Given the description of an element on the screen output the (x, y) to click on. 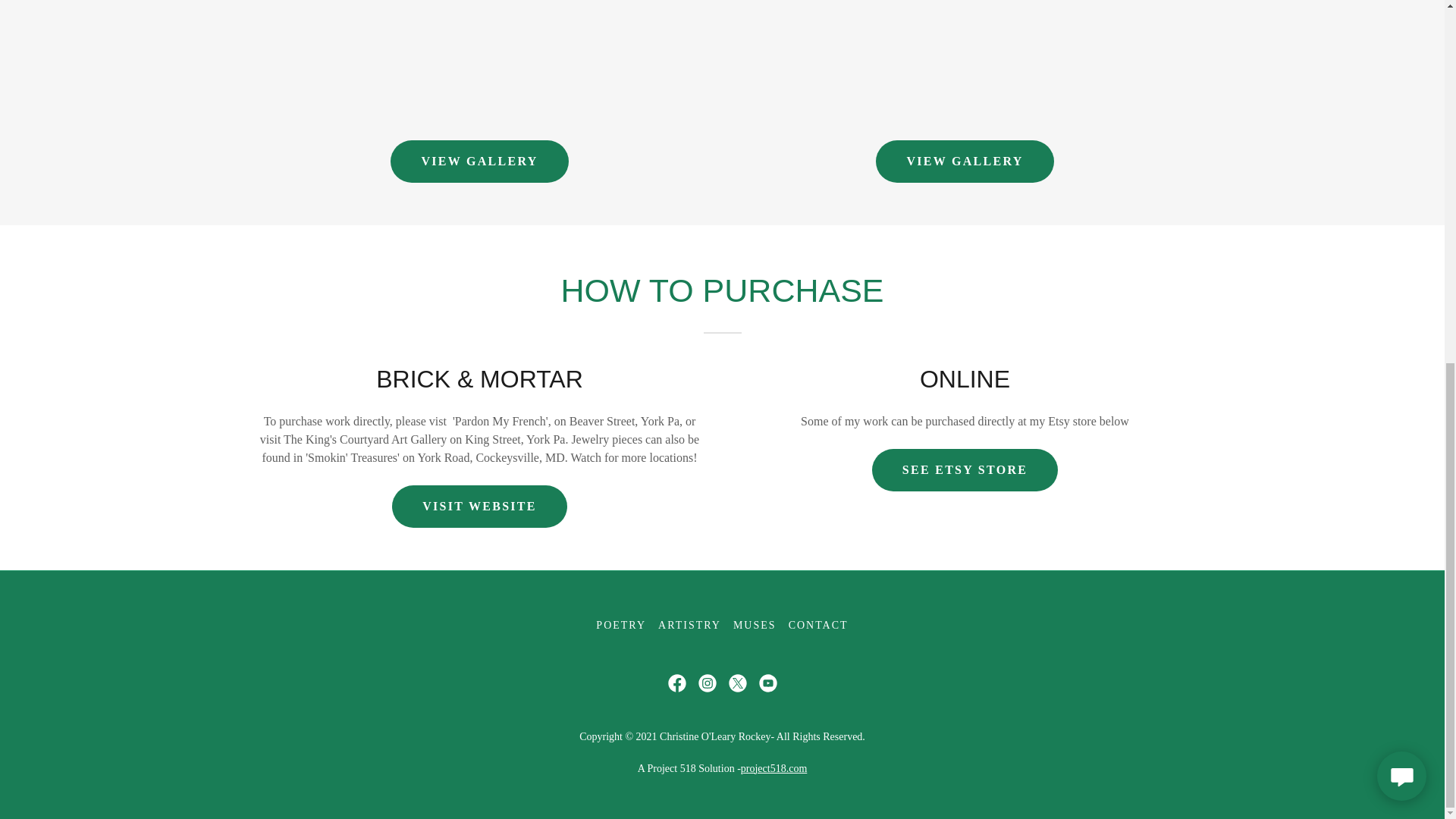
POETRY (620, 625)
VIEW GALLERY (964, 161)
SEE ETSY STORE (965, 469)
DECLINE (1203, 495)
ACCEPT (1345, 495)
VIEW GALLERY (478, 161)
CONTACT (818, 625)
ARTISTRY (689, 625)
project518.com (773, 767)
MUSES (754, 625)
